Given the description of an element on the screen output the (x, y) to click on. 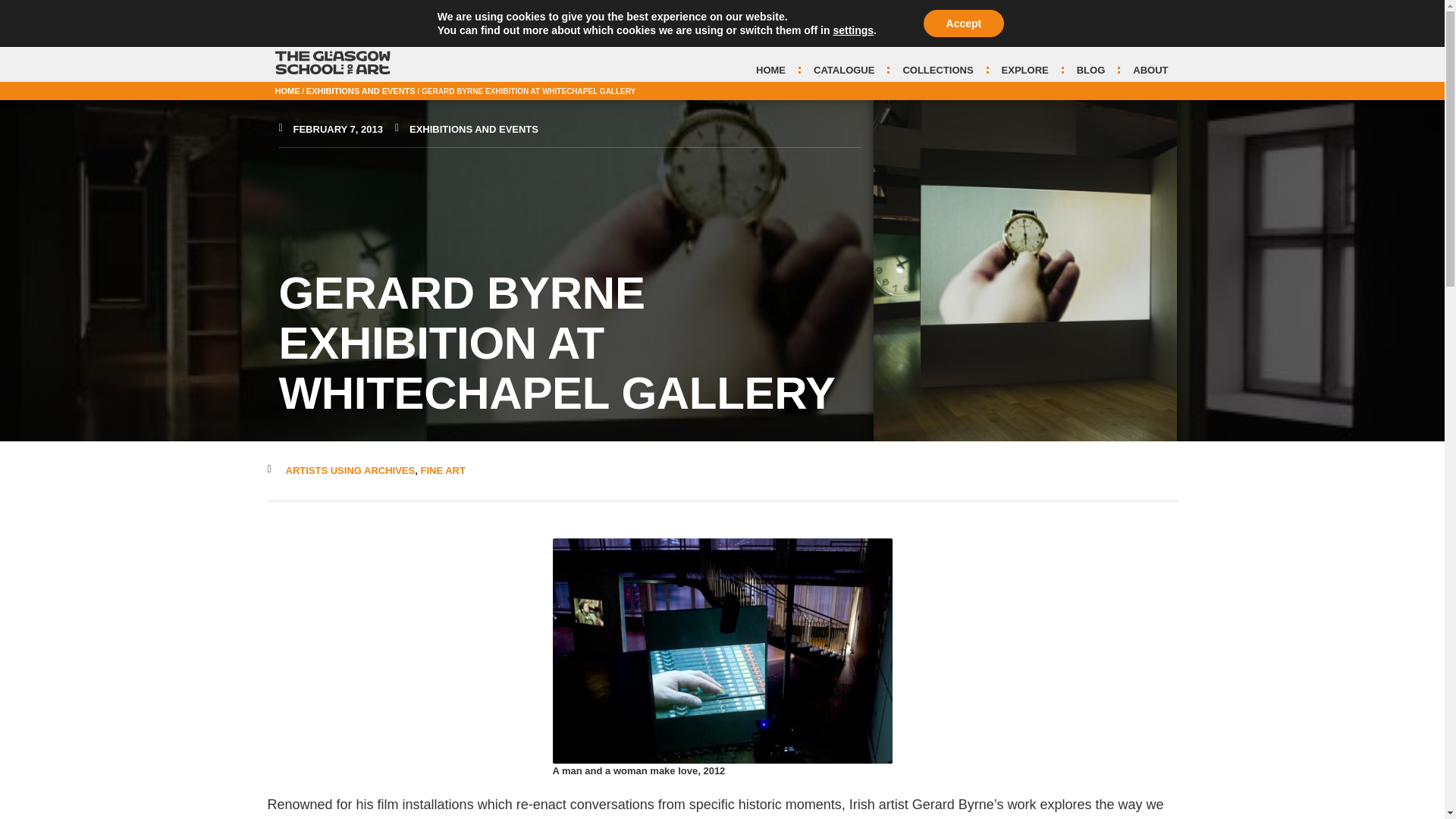
HOME (770, 70)
Search (1012, 36)
CATALOGUE (844, 70)
THE GLASGOW SCHOOL OF ART MAIN SITE (363, 8)
Search (1158, 36)
CONTACT US (1137, 8)
EXPLORE (1025, 70)
COLLECTIONS (937, 70)
